Given the description of an element on the screen output the (x, y) to click on. 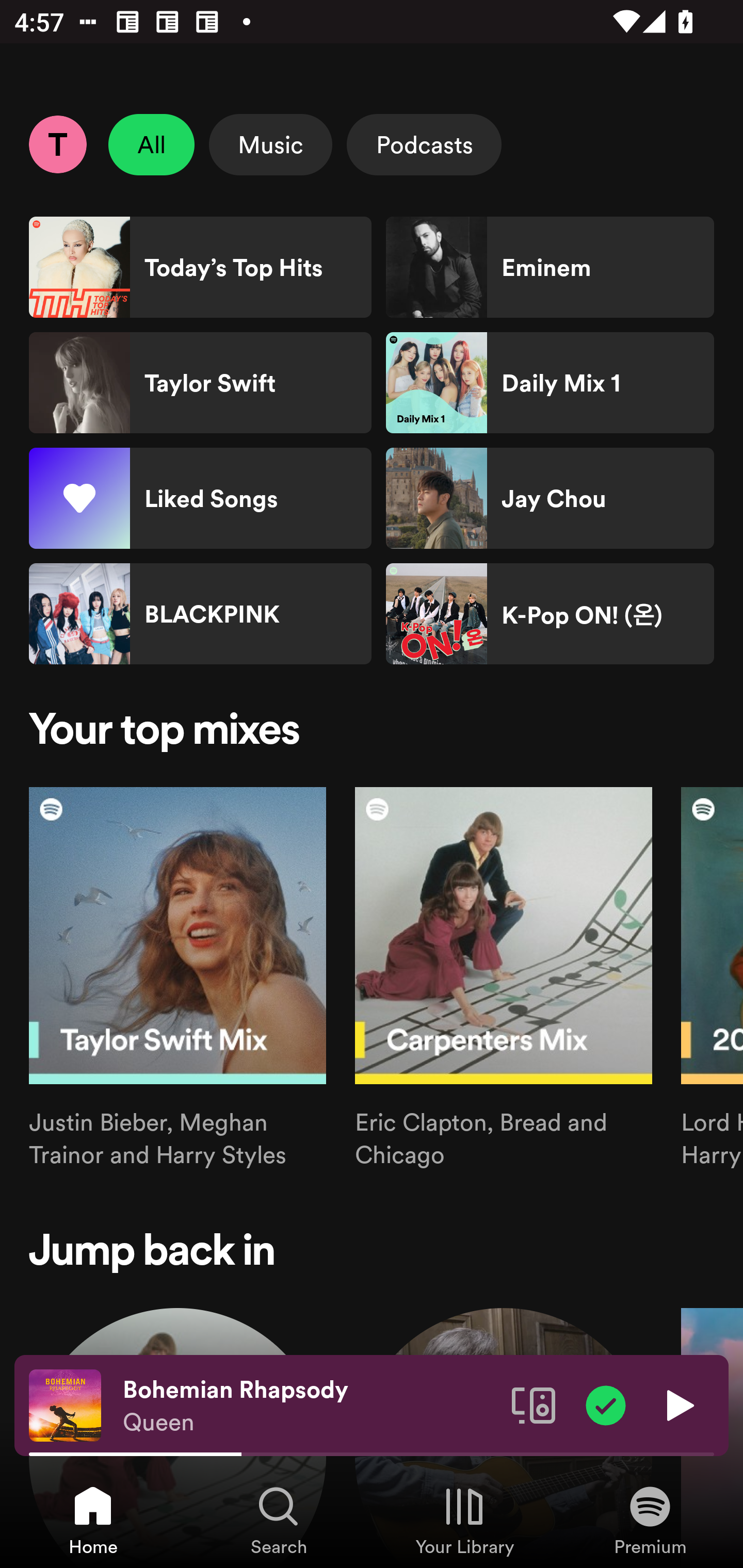
Profile (57, 144)
All Unselect All (151, 144)
Music Select Music (270, 144)
Podcasts Select Podcasts (423, 144)
Today’s Top Hits Shortcut Today’s Top Hits (199, 267)
Eminem Shortcut Eminem (549, 267)
Taylor Swift Shortcut Taylor Swift (199, 382)
Daily Mix 1 Shortcut Daily Mix 1 (549, 382)
Liked Songs Shortcut Liked Songs (199, 498)
Jay Chou Shortcut Jay Chou (549, 498)
BLACKPINK Shortcut BLACKPINK (199, 613)
K-Pop ON! (온) Shortcut K-Pop ON! (온) (549, 613)
Bohemian Rhapsody Queen (309, 1405)
The cover art of the currently playing track (64, 1404)
Connect to a device. Opens the devices menu (533, 1404)
Item added (605, 1404)
Play (677, 1404)
Home, Tab 1 of 4 Home Home (92, 1519)
Search, Tab 2 of 4 Search Search (278, 1519)
Your Library, Tab 3 of 4 Your Library Your Library (464, 1519)
Premium, Tab 4 of 4 Premium Premium (650, 1519)
